Given the description of an element on the screen output the (x, y) to click on. 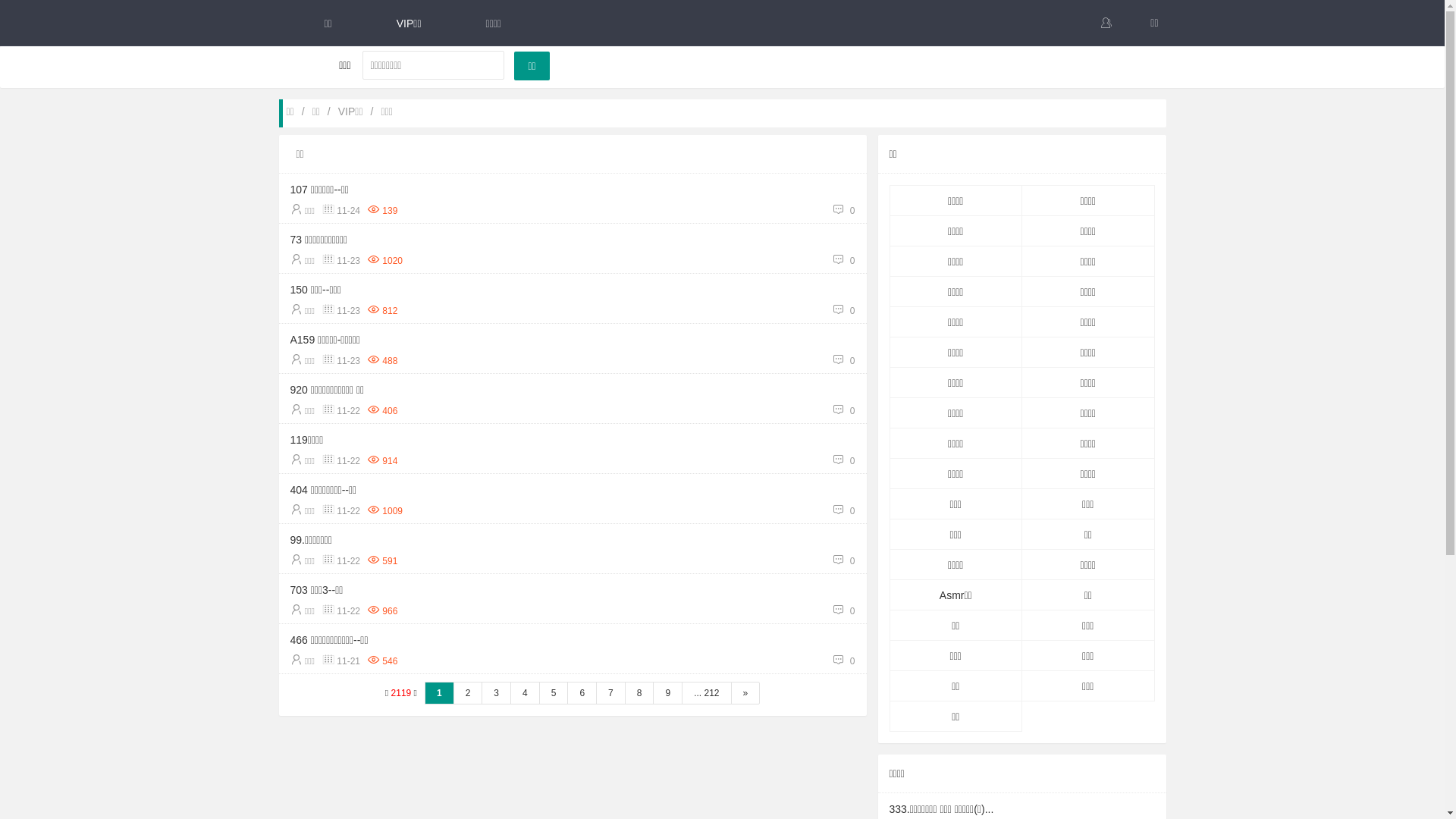
... 212 Element type: text (706, 692)
3 Element type: text (496, 692)
2 Element type: text (468, 692)
7 Element type: text (610, 692)
8 Element type: text (639, 692)
9 Element type: text (667, 692)
4 Element type: text (524, 692)
5 Element type: text (553, 692)
6 Element type: text (581, 692)
